Given the description of an element on the screen output the (x, y) to click on. 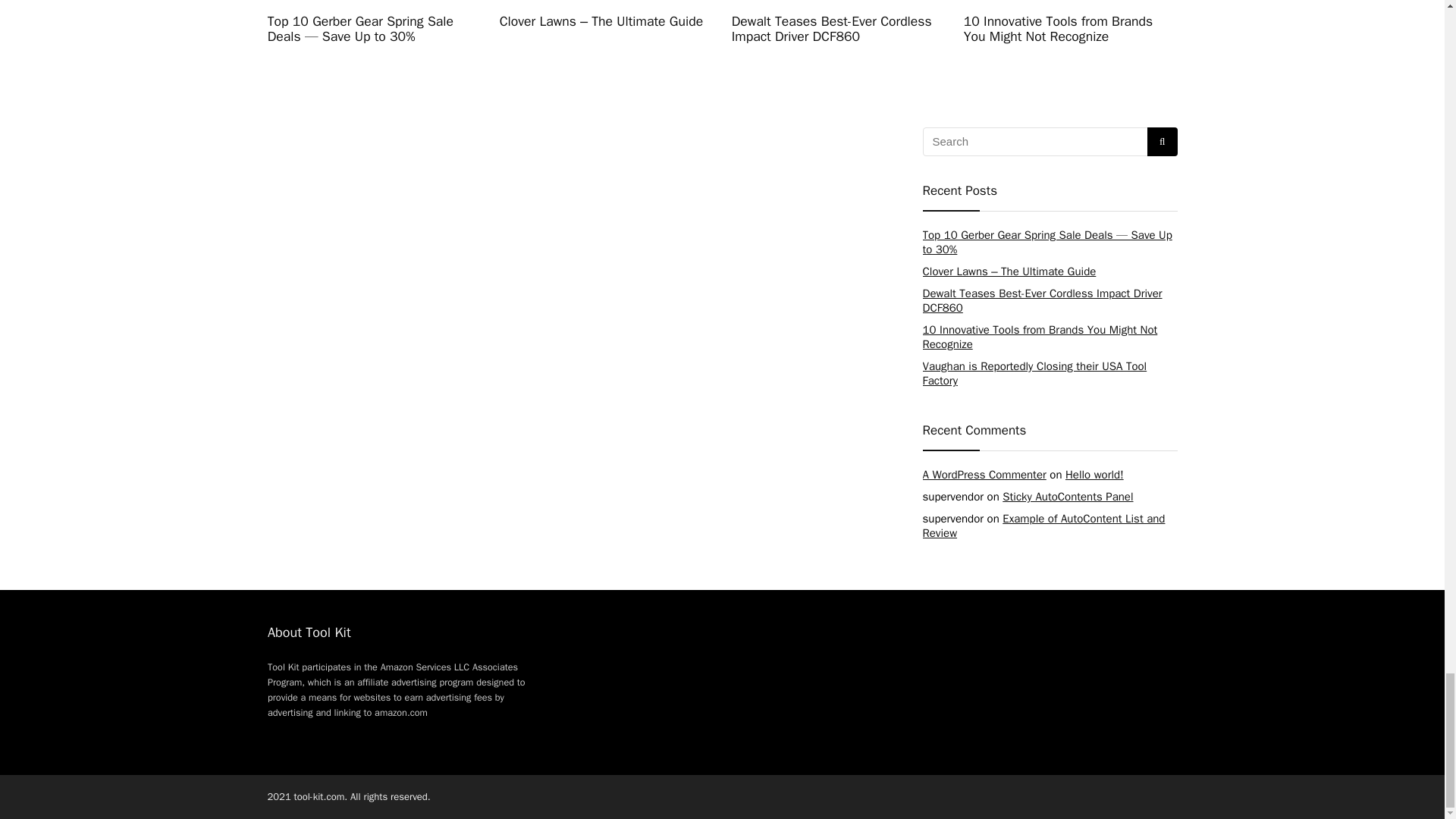
Dewalt Teases Best-Ever Cordless Impact Driver DCF860 (1041, 300)
10 Innovative Tools from Brands You Might Not Recognize (1039, 336)
10 Innovative Tools from Brands You Might Not Recognize (1058, 29)
Dewalt Teases Best-Ever Cordless Impact Driver DCF860 (831, 29)
